Given the description of an element on the screen output the (x, y) to click on. 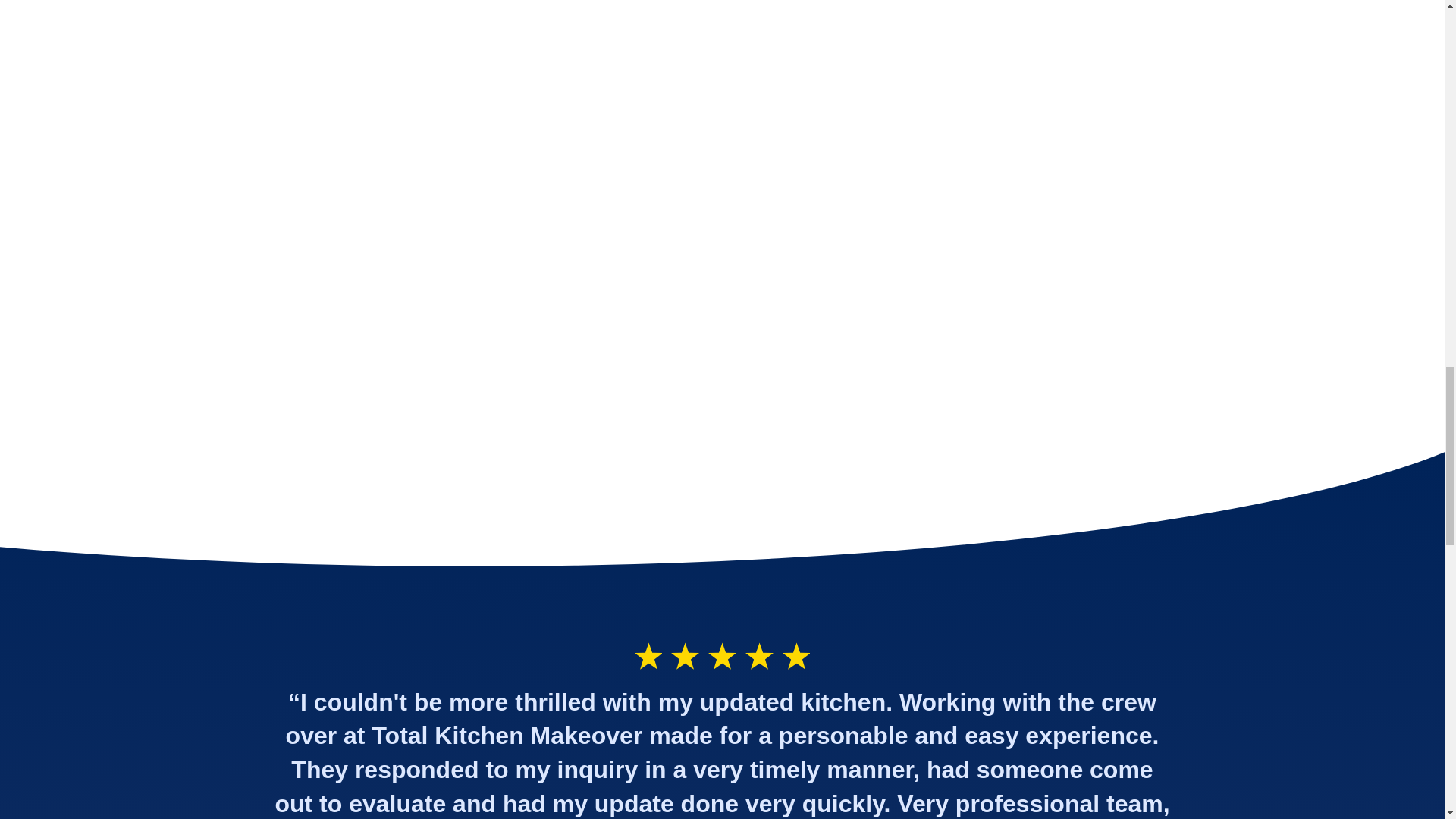
Gallery Image (870, 306)
Gallery Image (273, 50)
Gallery Image (1020, 107)
Gallery Image (573, 50)
Gallery Image (1170, 306)
